Given the description of an element on the screen output the (x, y) to click on. 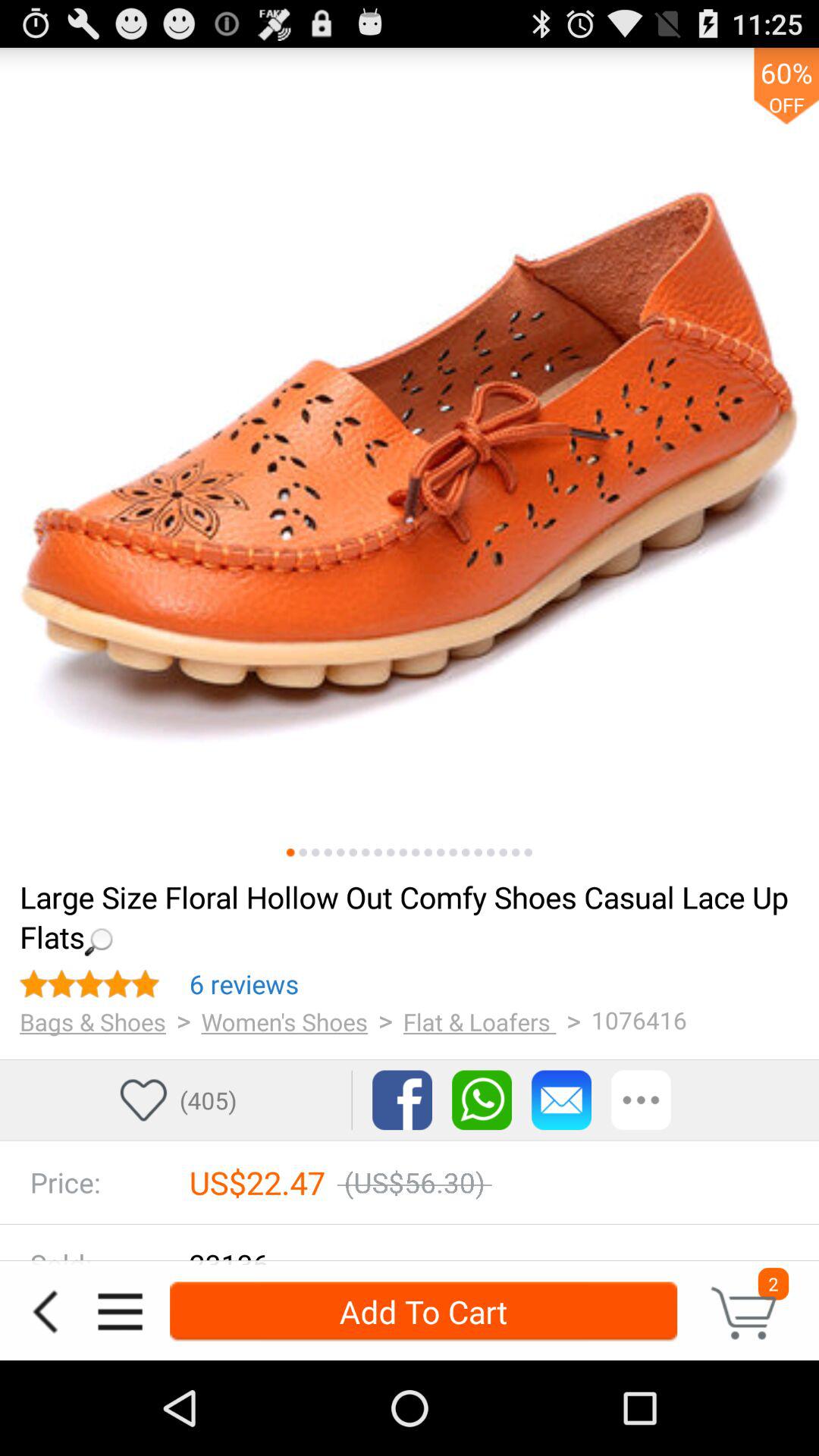
go to this image (403, 852)
